Given the description of an element on the screen output the (x, y) to click on. 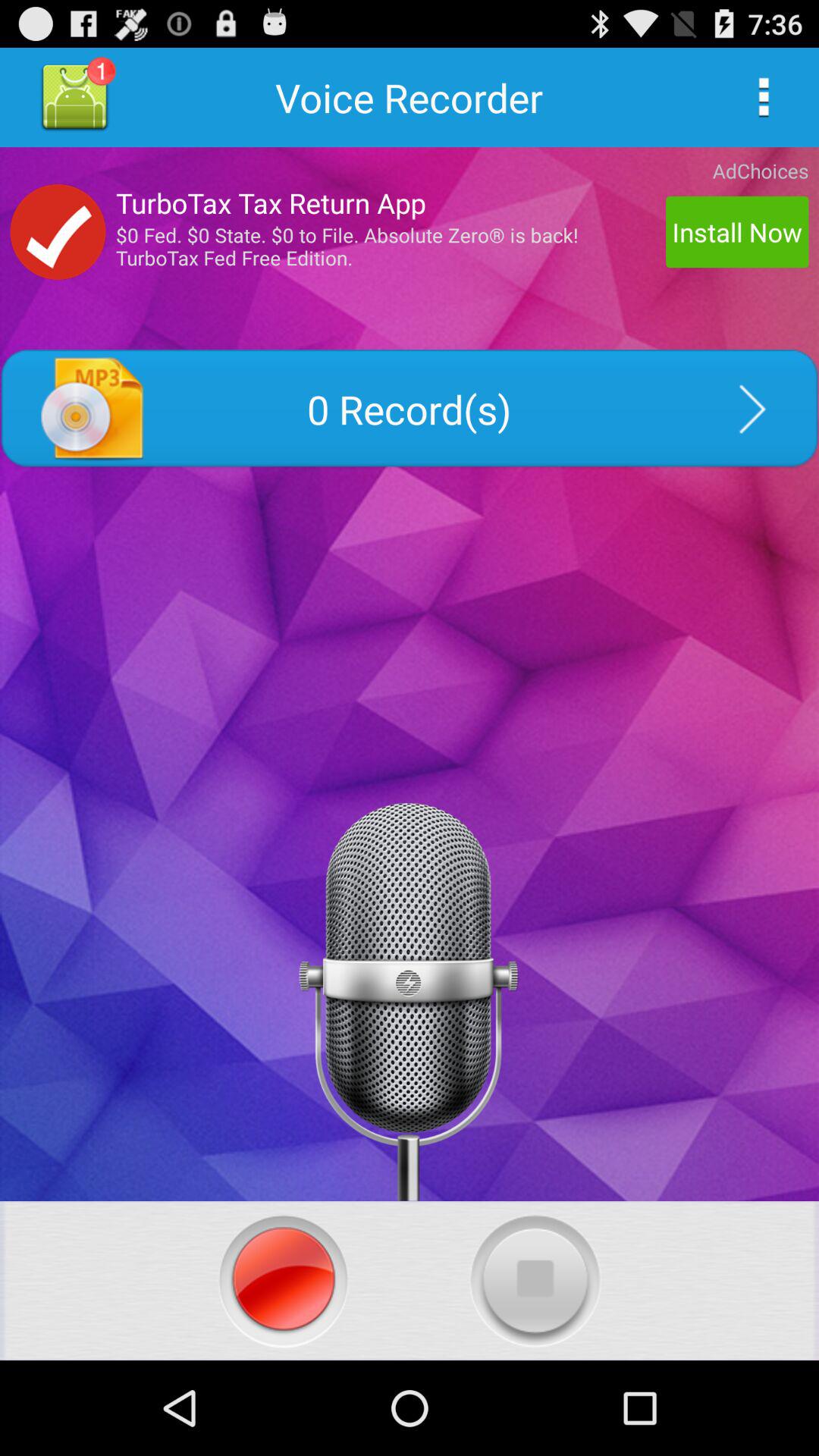
stop recording (535, 1280)
